Given the description of an element on the screen output the (x, y) to click on. 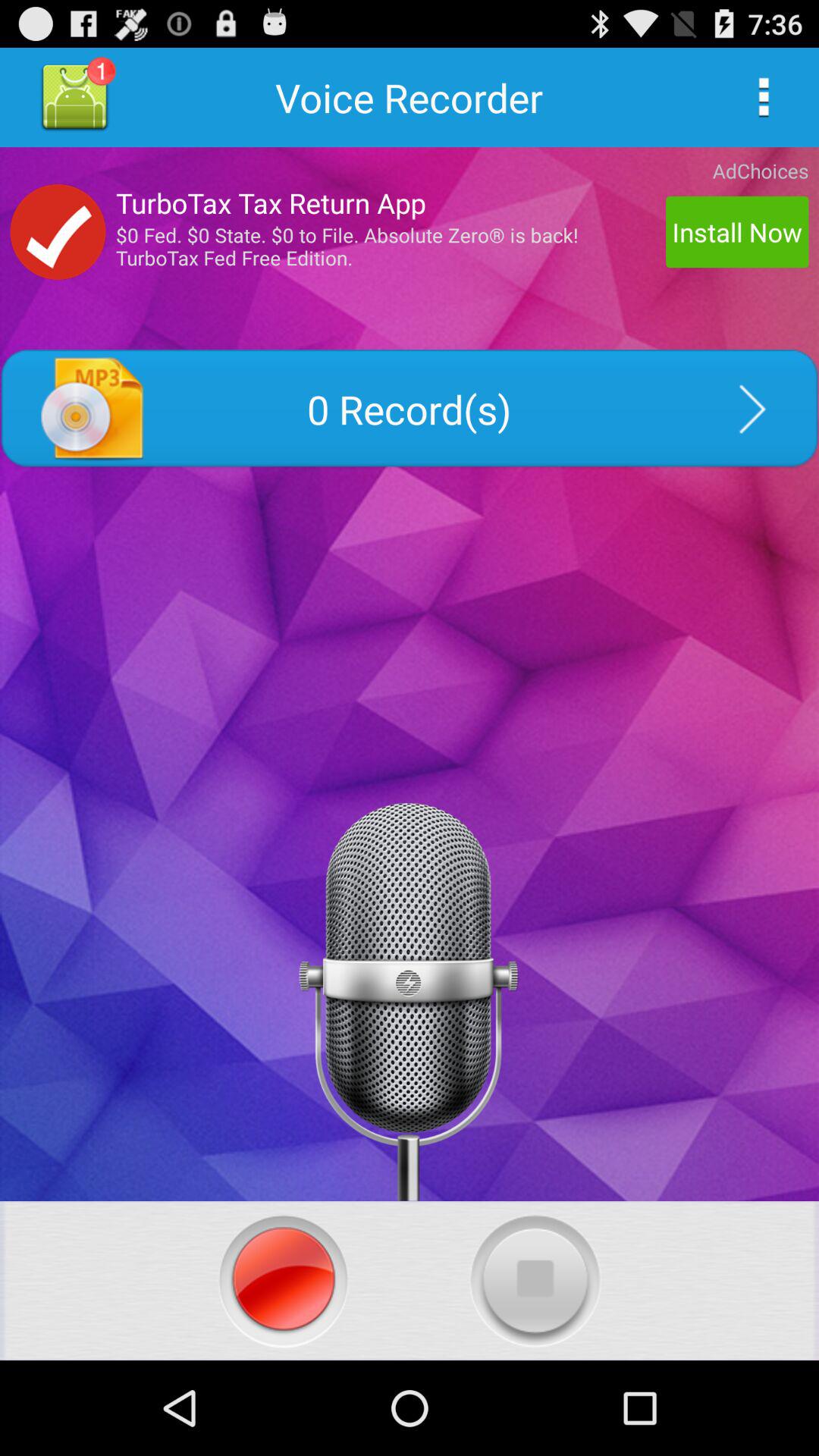
stop recording (535, 1280)
